Given the description of an element on the screen output the (x, y) to click on. 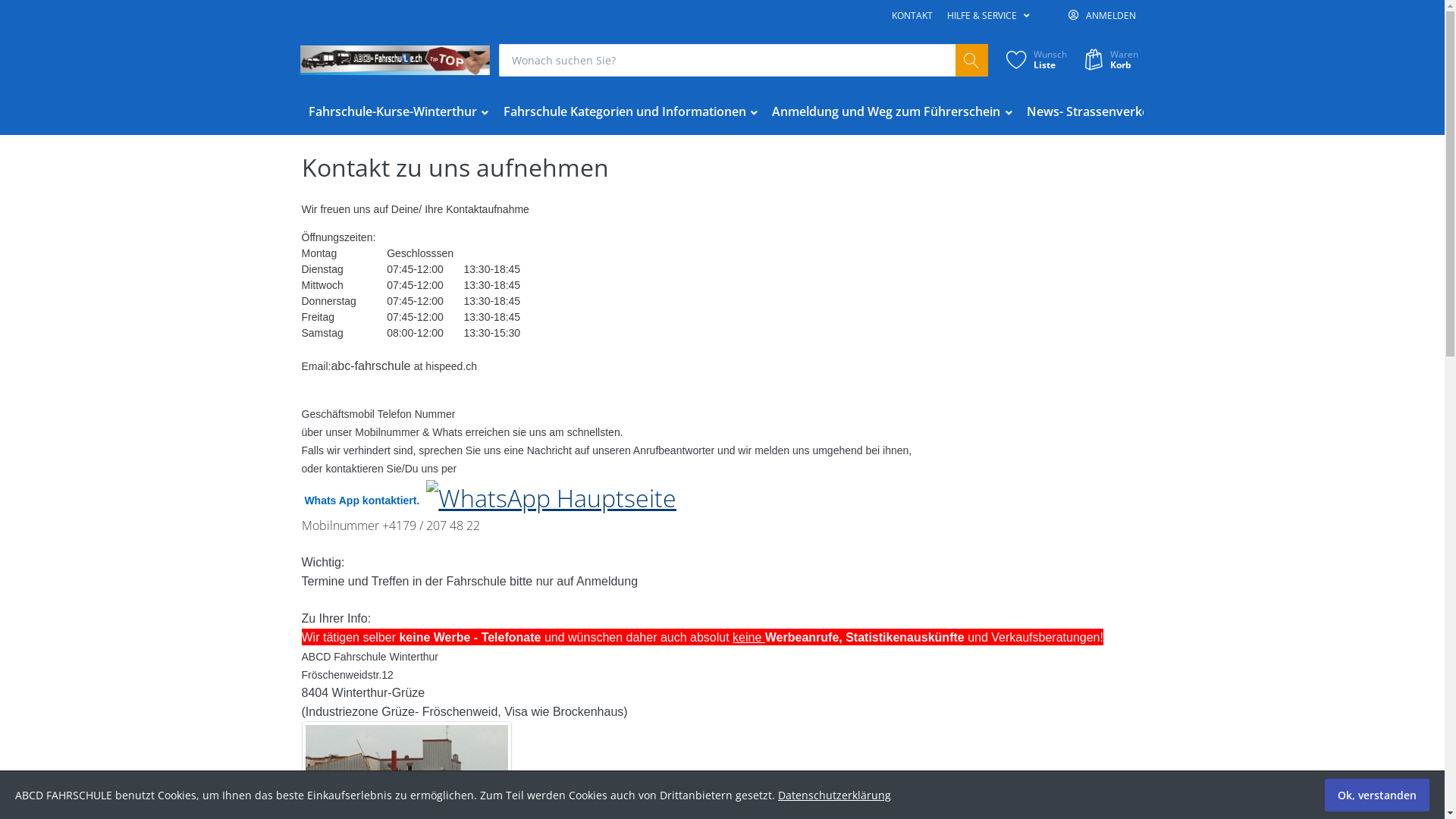
Whats App kontaktiert. Element type: text (361, 494)
Ok, verstanden Element type: text (1376, 794)
Waren
Korb Element type: text (1109, 59)
Fahrschule Kategorien und Informationen Element type: text (630, 111)
Suchen Element type: hover (971, 59)
ANMELDEN Element type: text (1101, 15)
ABCD FAHRSCHULE Element type: hover (394, 60)
Fahrschule-Kurse-Winterthur Element type: text (398, 111)
Wunsch
Liste Element type: text (1034, 59)
KONTAKT Element type: text (911, 15)
HILFE & SERVICE Element type: text (987, 15)
